Given the description of an element on the screen output the (x, y) to click on. 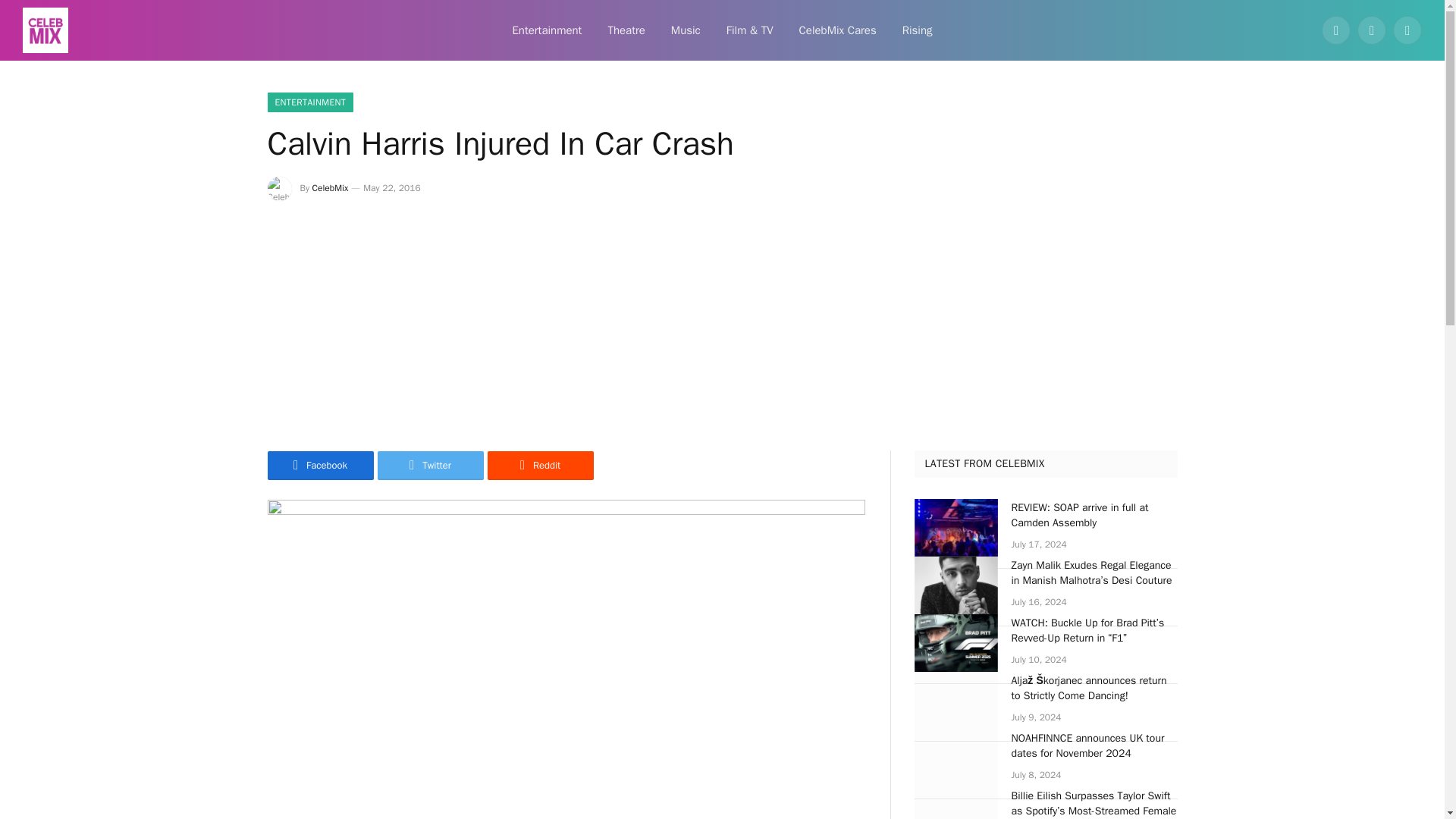
Instagram (1407, 30)
CelebMix (331, 187)
Reddit (539, 465)
Music (685, 30)
Rising (916, 30)
Entertainment (546, 30)
Share on Reddit (539, 465)
Facebook (1336, 30)
Twitter (430, 465)
Theatre (626, 30)
Posts by CelebMix (331, 187)
Facebook (319, 465)
Share on Facebook (319, 465)
ENTERTAINMENT (309, 102)
